Given the description of an element on the screen output the (x, y) to click on. 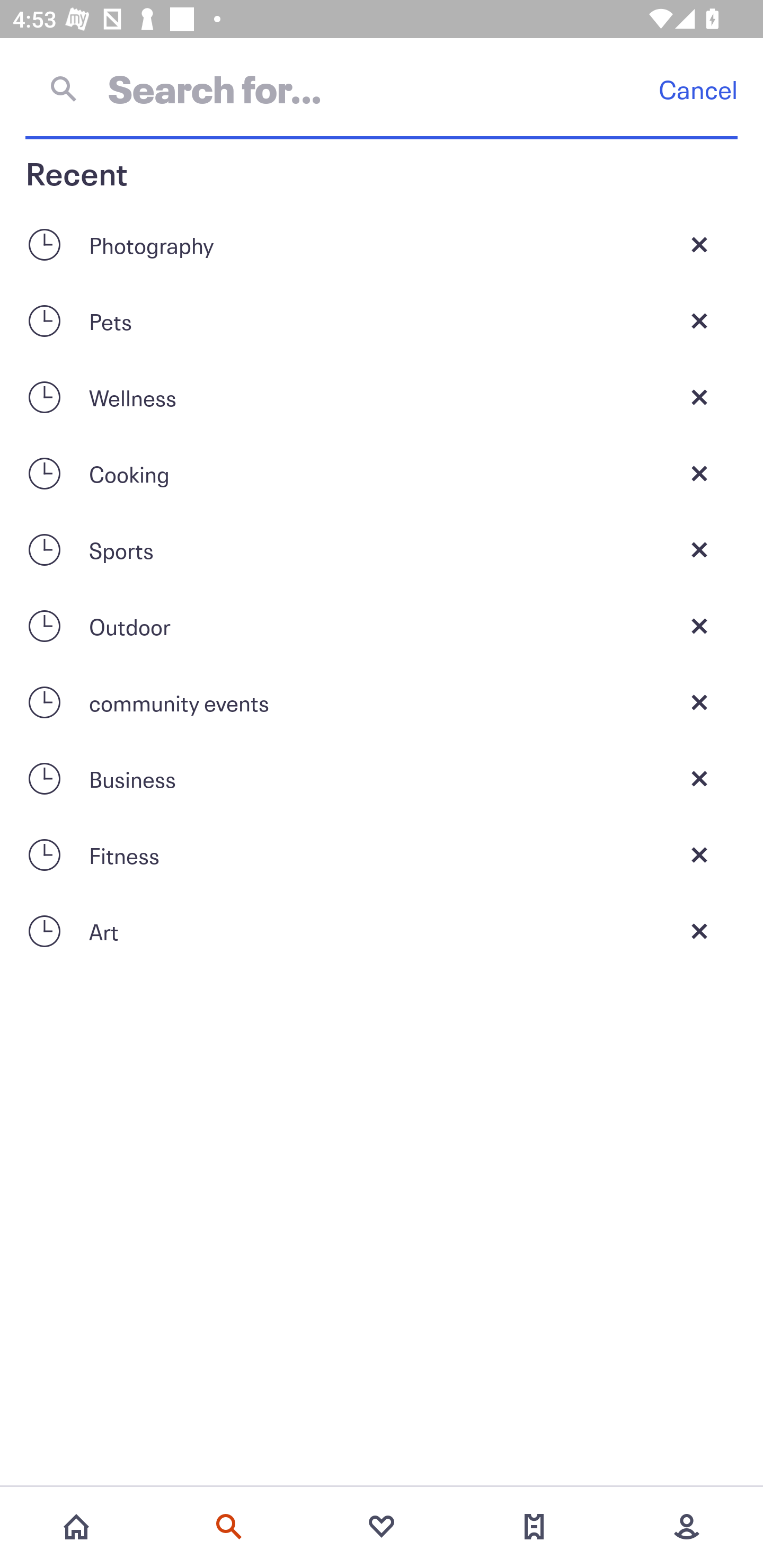
Cancel Search for… (381, 88)
Cancel (697, 89)
Photography Close current screen (381, 244)
Close current screen (699, 244)
Pets Close current screen (381, 320)
Close current screen (699, 320)
Wellness Close current screen (381, 397)
Close current screen (699, 397)
Cooking Close current screen (381, 473)
Close current screen (699, 473)
Sports Close current screen (381, 549)
Close current screen (699, 549)
Outdoor Close current screen (381, 626)
Close current screen (699, 626)
community events Close current screen (381, 702)
Close current screen (699, 702)
Business Close current screen (381, 778)
Close current screen (699, 778)
Fitness Close current screen (381, 854)
Close current screen (699, 854)
Art Close current screen (381, 931)
Close current screen (699, 931)
Home (76, 1526)
Search events (228, 1526)
Favorites (381, 1526)
Tickets (533, 1526)
More (686, 1526)
